Given the description of an element on the screen output the (x, y) to click on. 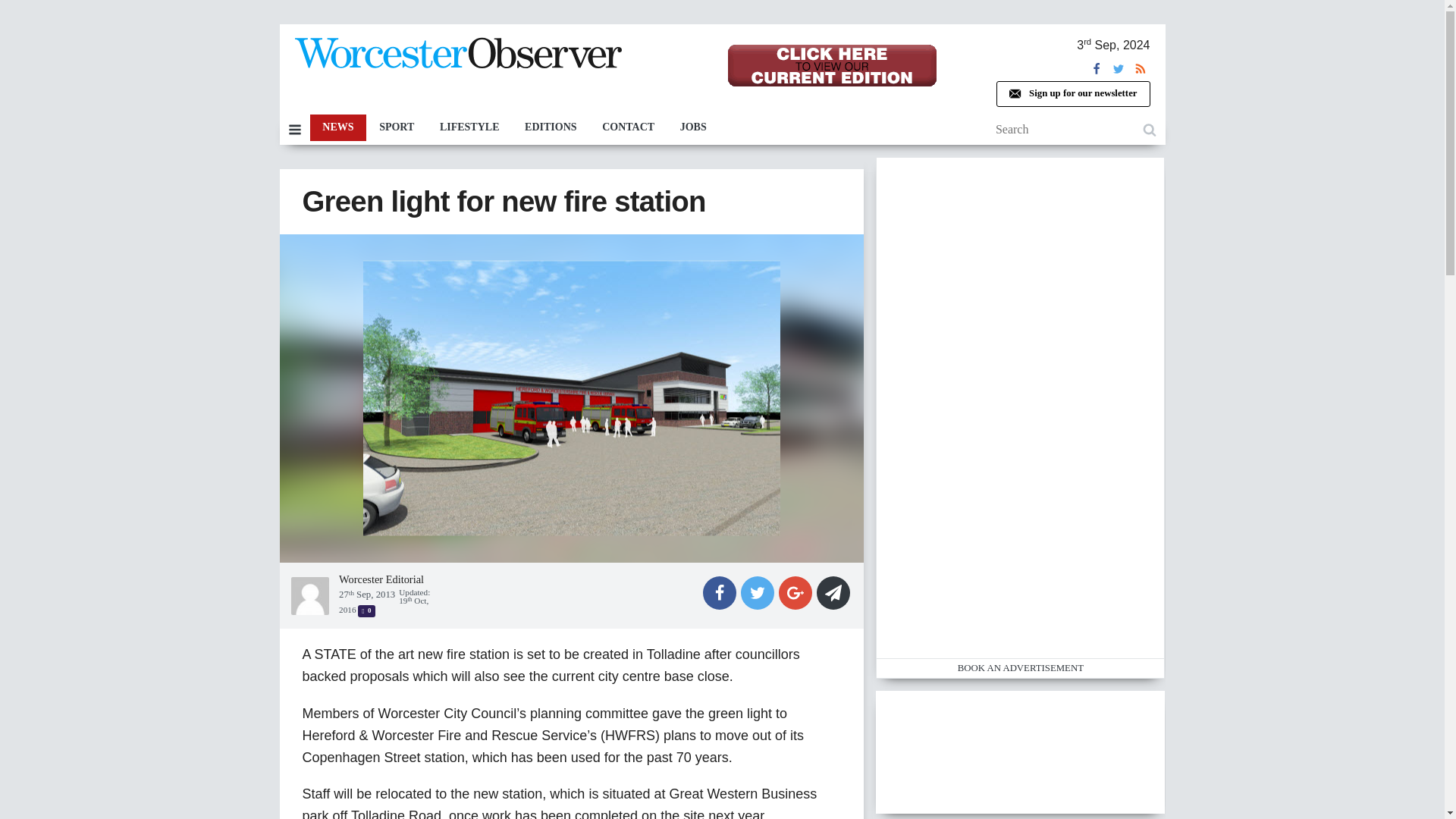
NEWS (337, 127)
  Sign up for our newsletter (1072, 94)
SPORT (396, 127)
The Worcester Observer (457, 55)
